Given the description of an element on the screen output the (x, y) to click on. 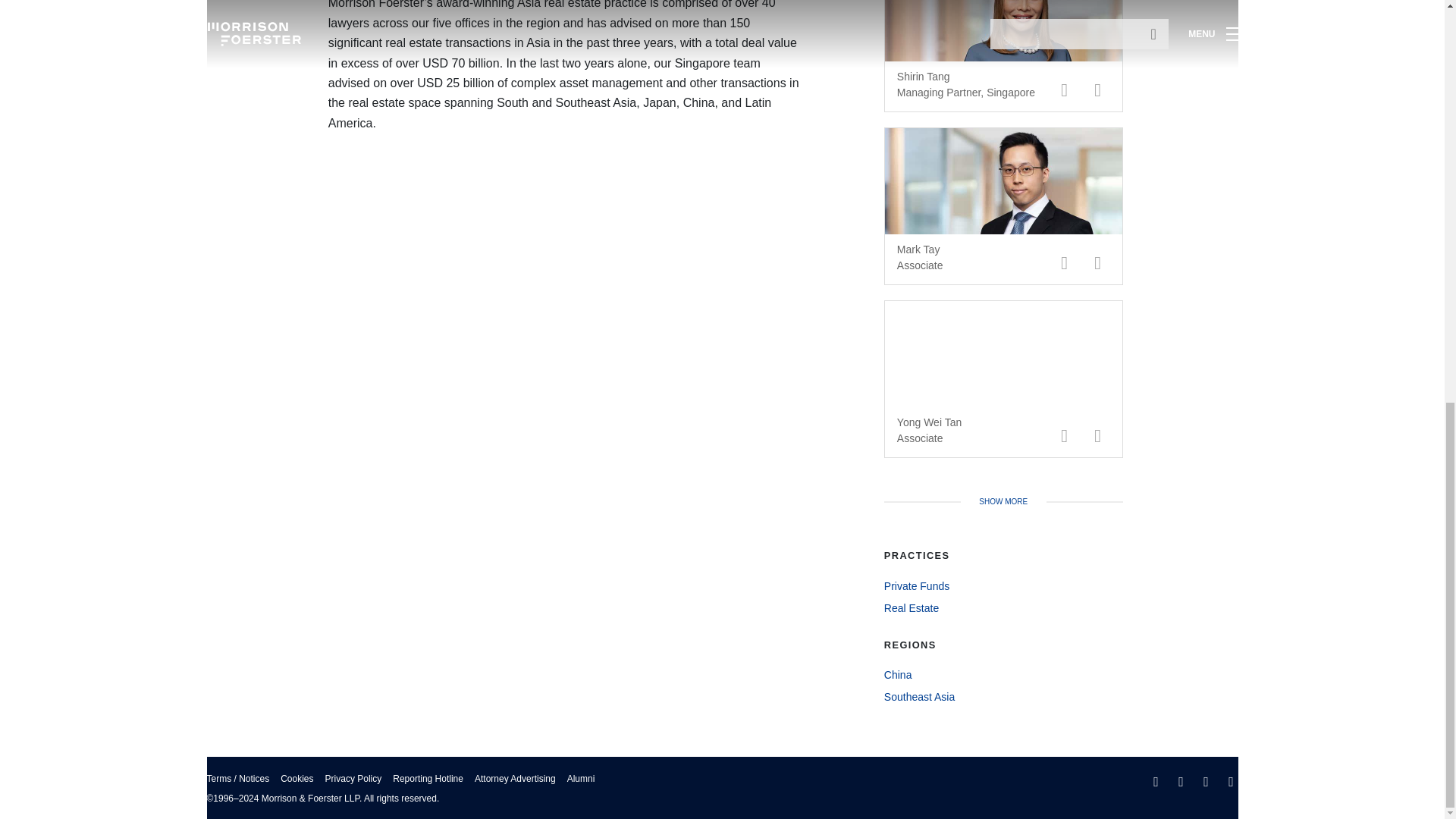
call Yong Wei Tan (1097, 435)
call Mark Tay (1097, 262)
call Shirin Tang (1097, 89)
email Shirin Tang (1064, 89)
email Mark Tay (1064, 262)
email Yong Wei Tan (1064, 435)
